Given the description of an element on the screen output the (x, y) to click on. 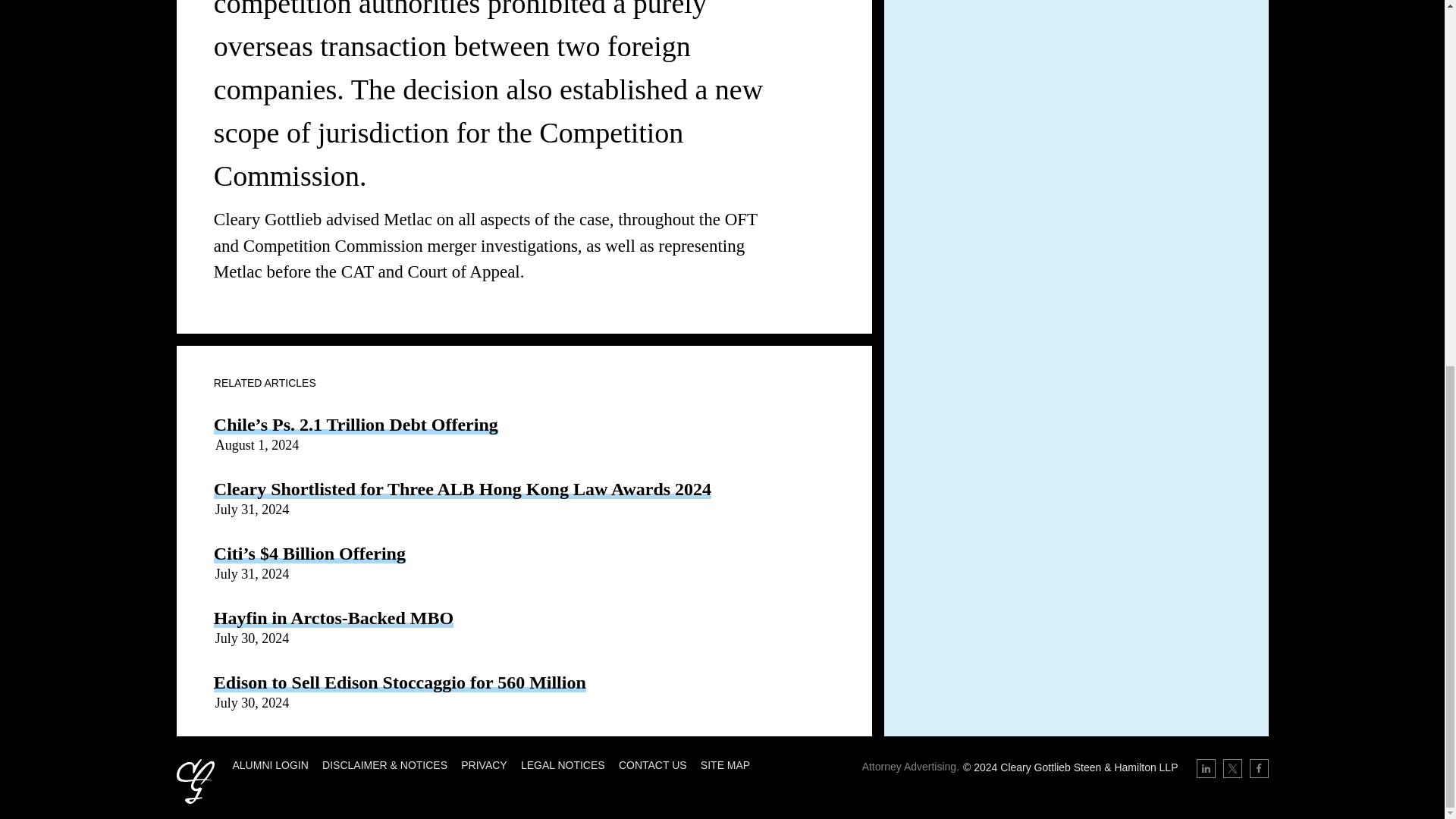
Legal Notices (563, 765)
Privacy (483, 765)
Contact Us (652, 765)
Alumni Login (269, 765)
Site Map (724, 765)
